Given the description of an element on the screen output the (x, y) to click on. 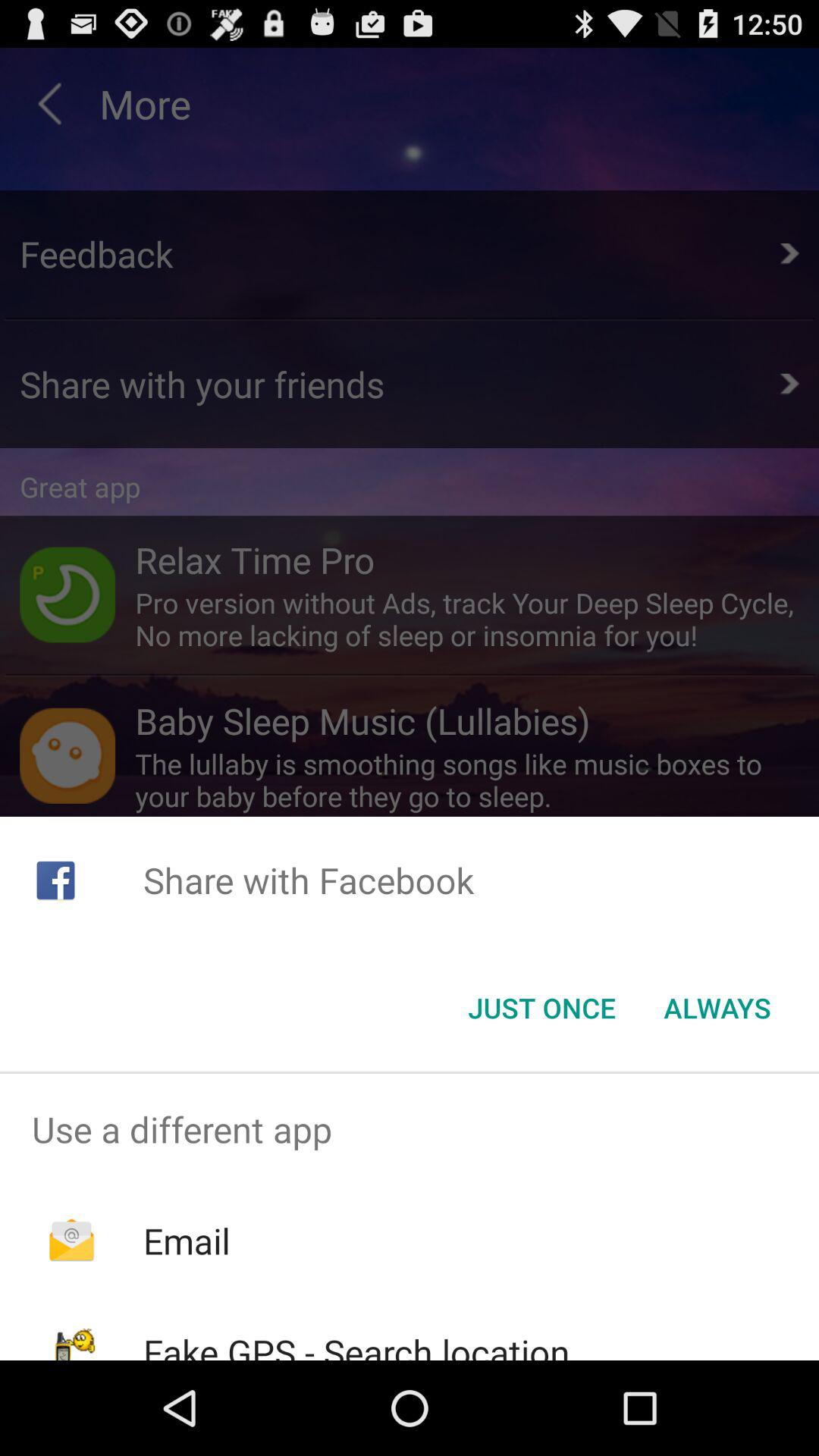
choose the icon to the left of the always item (541, 1007)
